Given the description of an element on the screen output the (x, y) to click on. 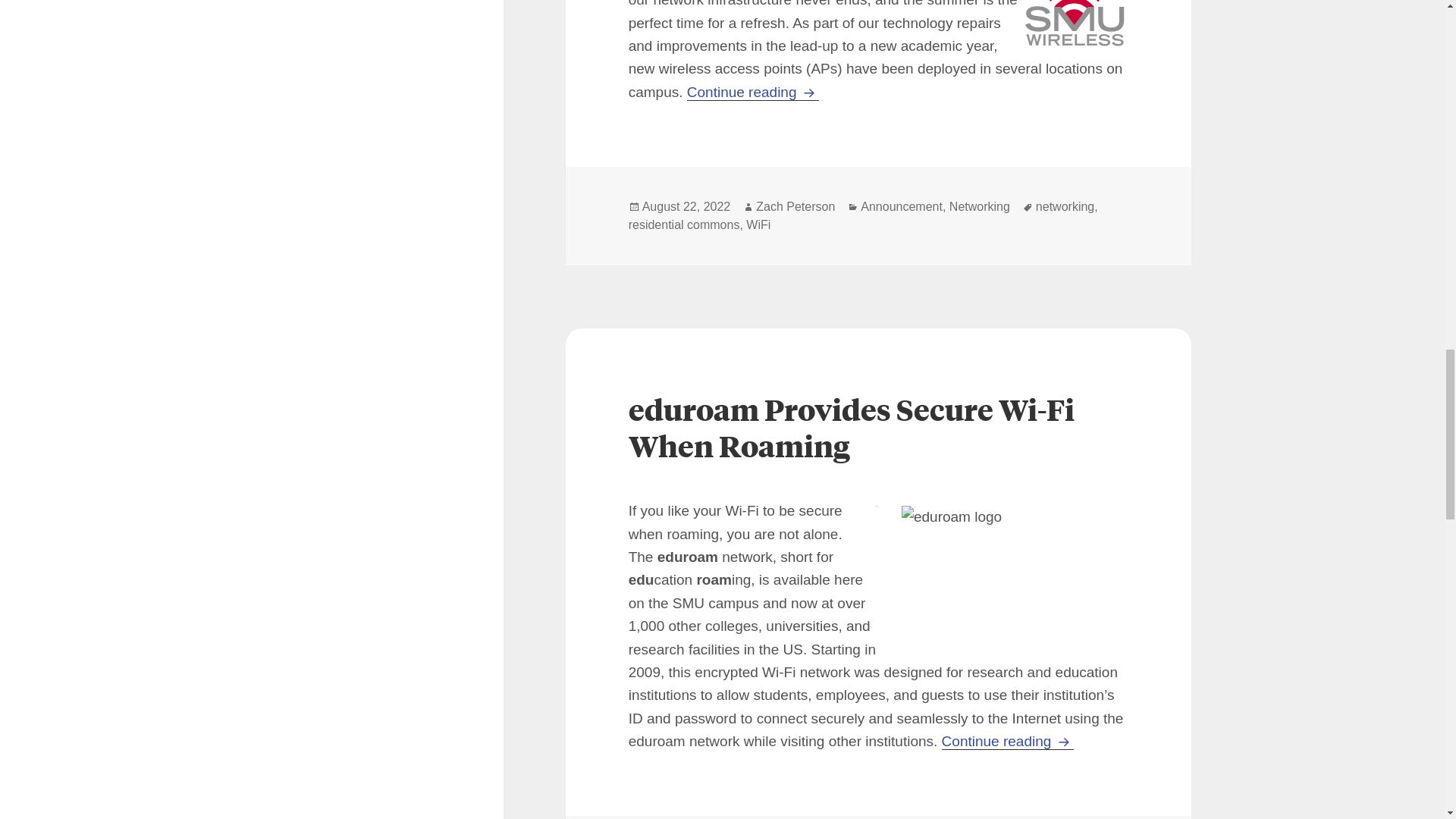
Zach Peterson (794, 206)
residential commons (683, 224)
eduroam Provides Secure Wi-Fi When Roaming (851, 426)
Networking (979, 206)
networking (1064, 206)
Announcement (901, 206)
August 22, 2022 (686, 206)
WiFi (757, 224)
